Given the description of an element on the screen output the (x, y) to click on. 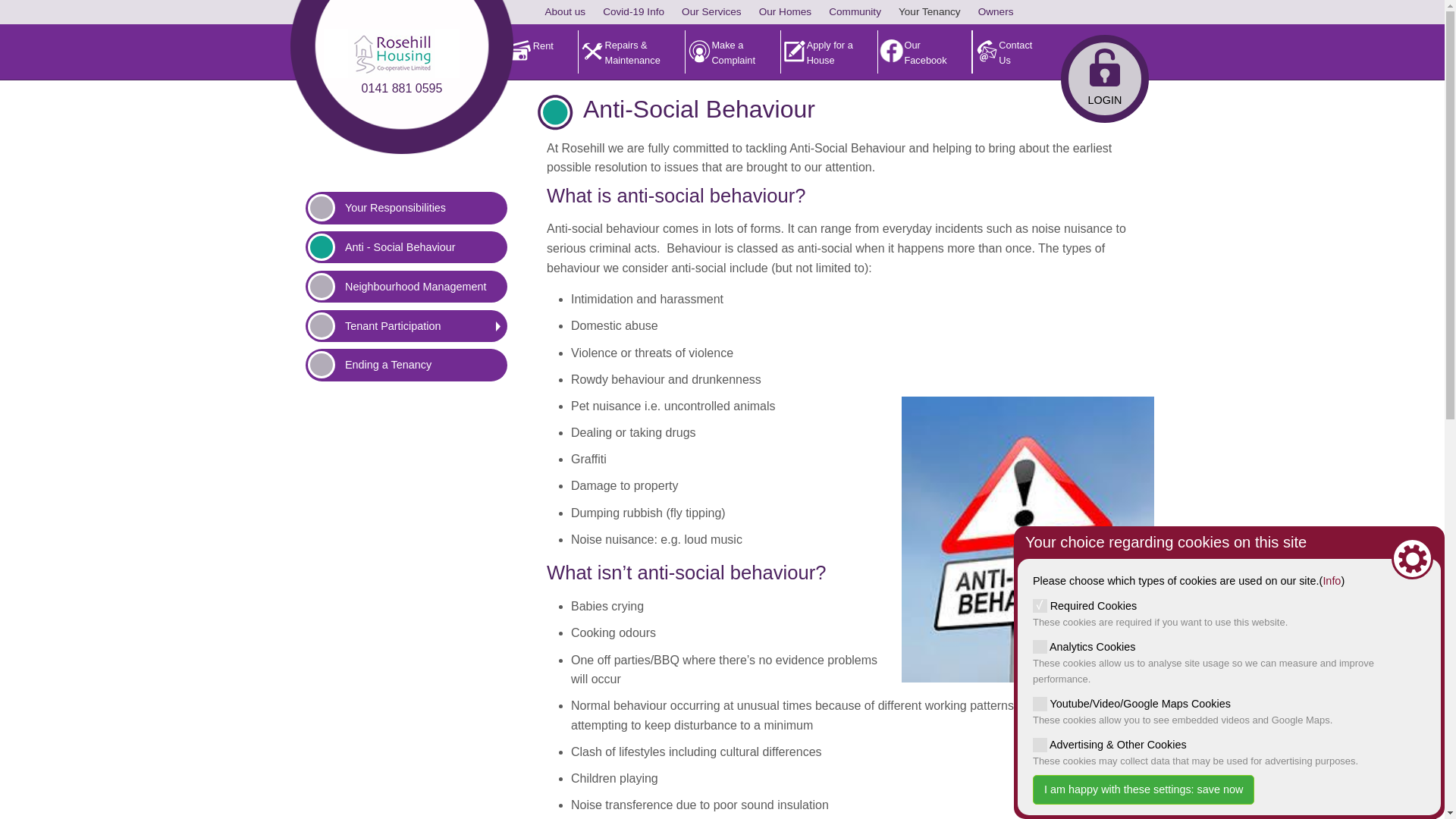
on (1039, 646)
Covid-19 Info (633, 12)
on (1039, 703)
on (1039, 605)
Our Services (711, 12)
on (1039, 744)
Our Homes (785, 12)
About us (564, 12)
